Given the description of an element on the screen output the (x, y) to click on. 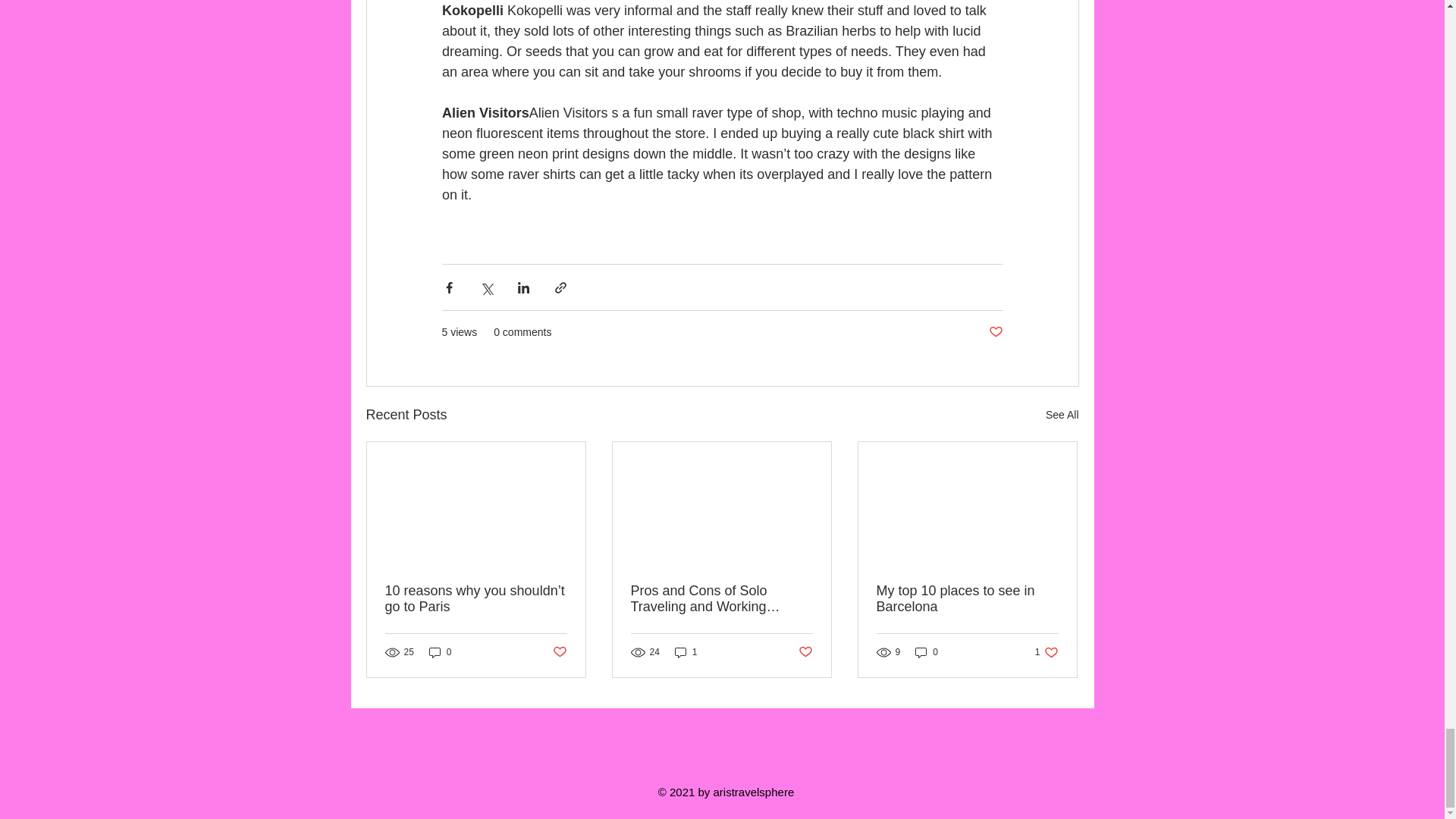
Post not marked as liked (995, 332)
Pros and Cons of Solo Traveling and Working remotely (721, 599)
Post not marked as liked (558, 652)
0 (440, 652)
1 (685, 652)
Post not marked as liked (1046, 652)
0 (804, 652)
See All (926, 652)
My top 10 places to see in Barcelona (1061, 414)
